Given the description of an element on the screen output the (x, y) to click on. 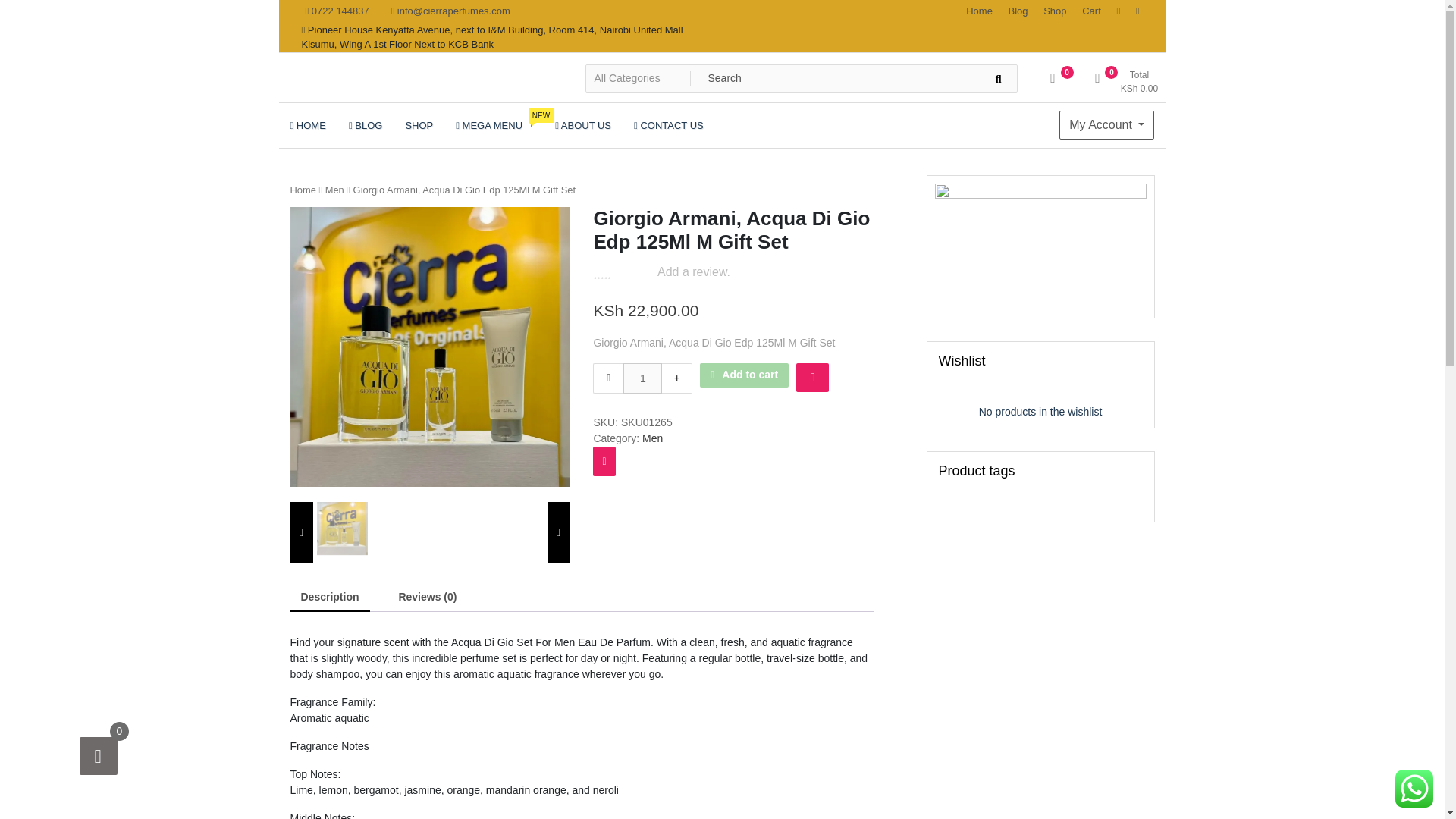
Cart (1091, 11)
GIORGIO ARMANI, ACQUA DI GIO EDP 125ML M GIFT SET (342, 528)
Search for: (801, 78)
CONTACT US (1123, 82)
Home (668, 125)
GIORGIO ARMANI, ACQUA DI GIO EDP 125ML M GIFT SET (978, 11)
Shop (429, 346)
My Account (1054, 11)
Men (1106, 124)
